Given the description of an element on the screen output the (x, y) to click on. 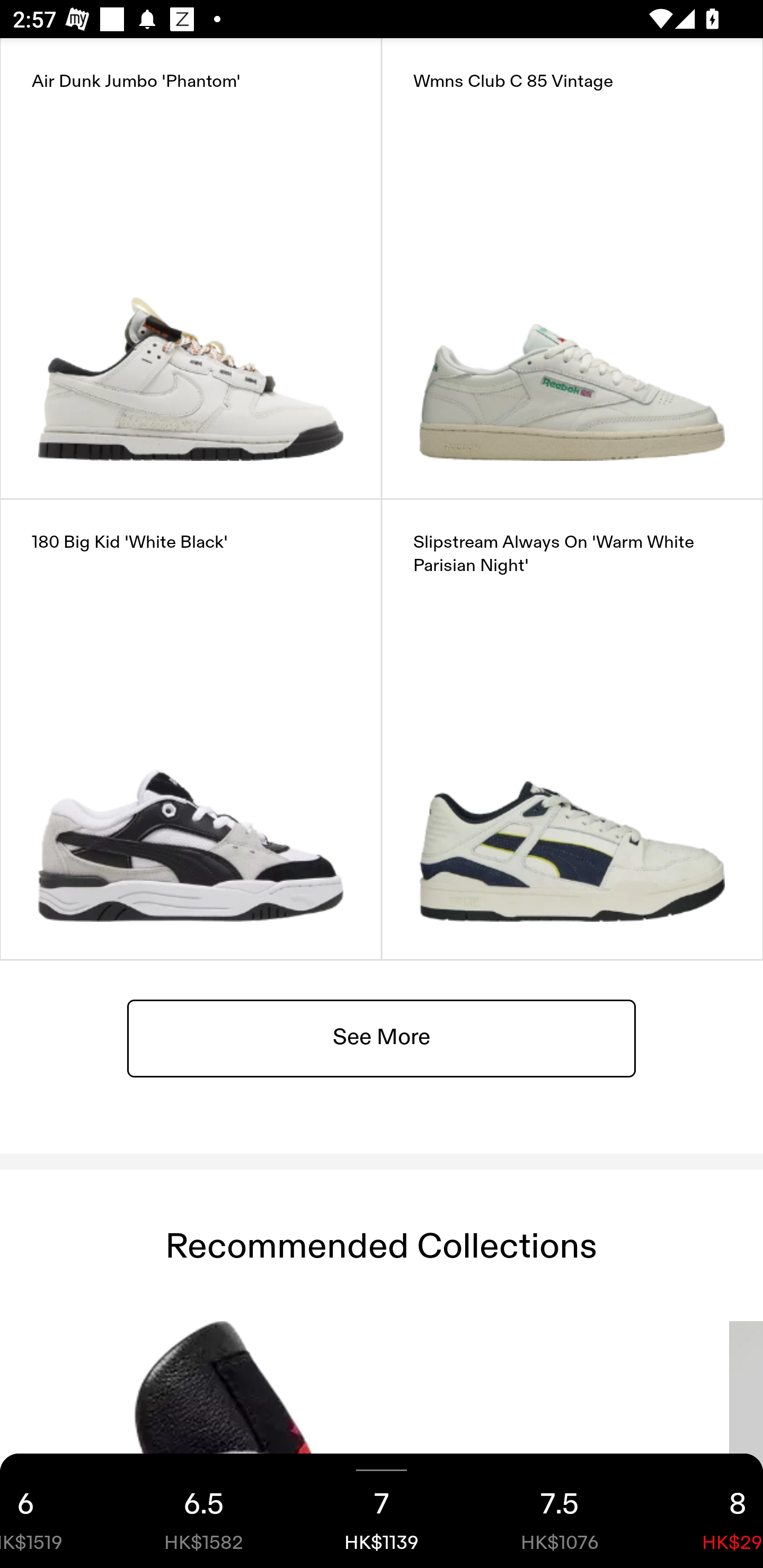
Air Dunk Jumbo 'Phantom' (190, 267)
Wmns Club C 85 Vintage (572, 267)
180 Big Kid 'White Black' (190, 728)
Slipstream Always On 'Warm White Parisian Night' (572, 728)
See More (381, 1037)
6 HK$1519 (57, 1510)
6.5 HK$1582 (203, 1510)
7 HK$1139 (381, 1510)
7.5 HK$1076 (559, 1510)
8 HK$293 (705, 1510)
